Given the description of an element on the screen output the (x, y) to click on. 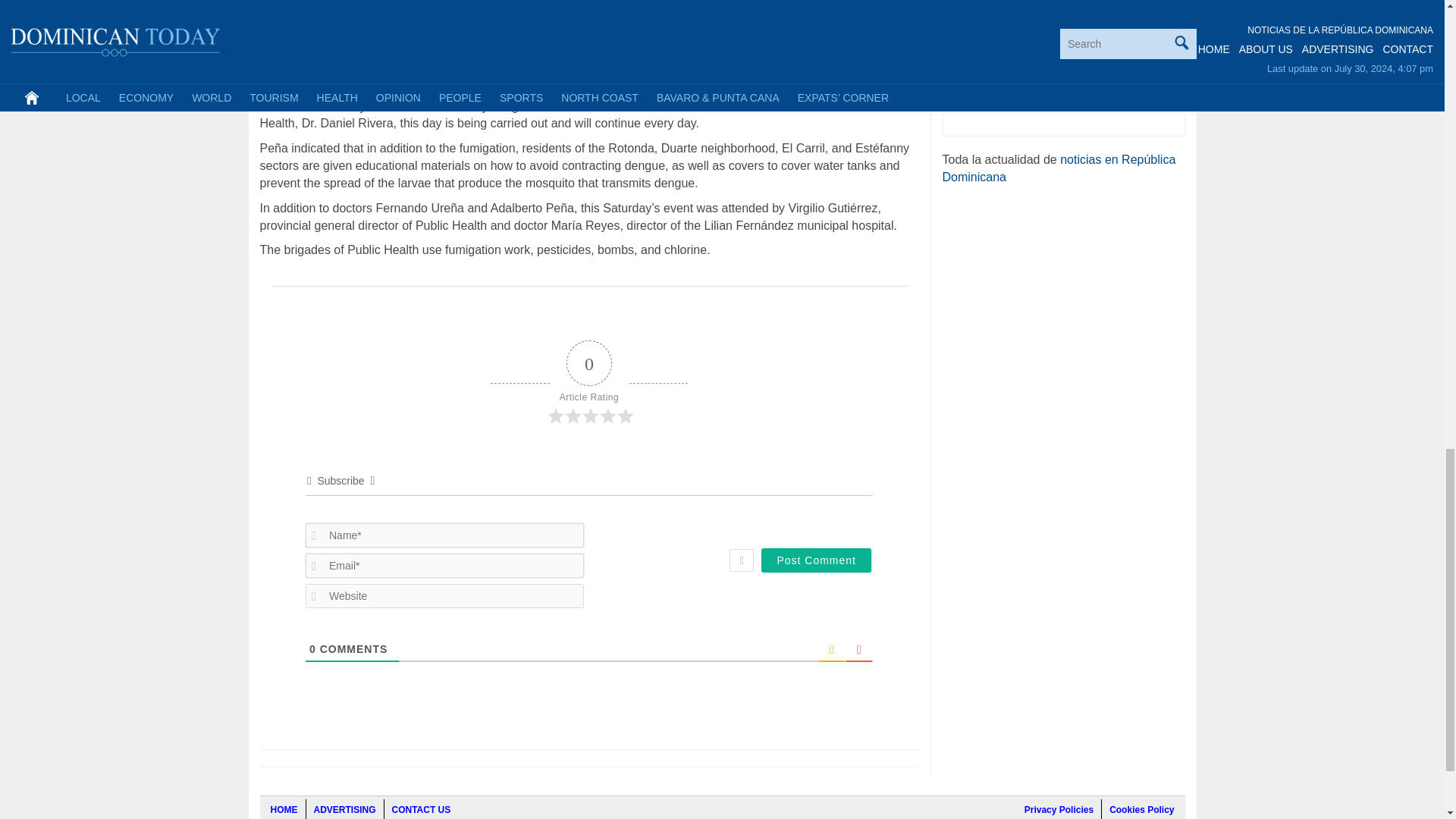
Post Comment (815, 559)
